Given the description of an element on the screen output the (x, y) to click on. 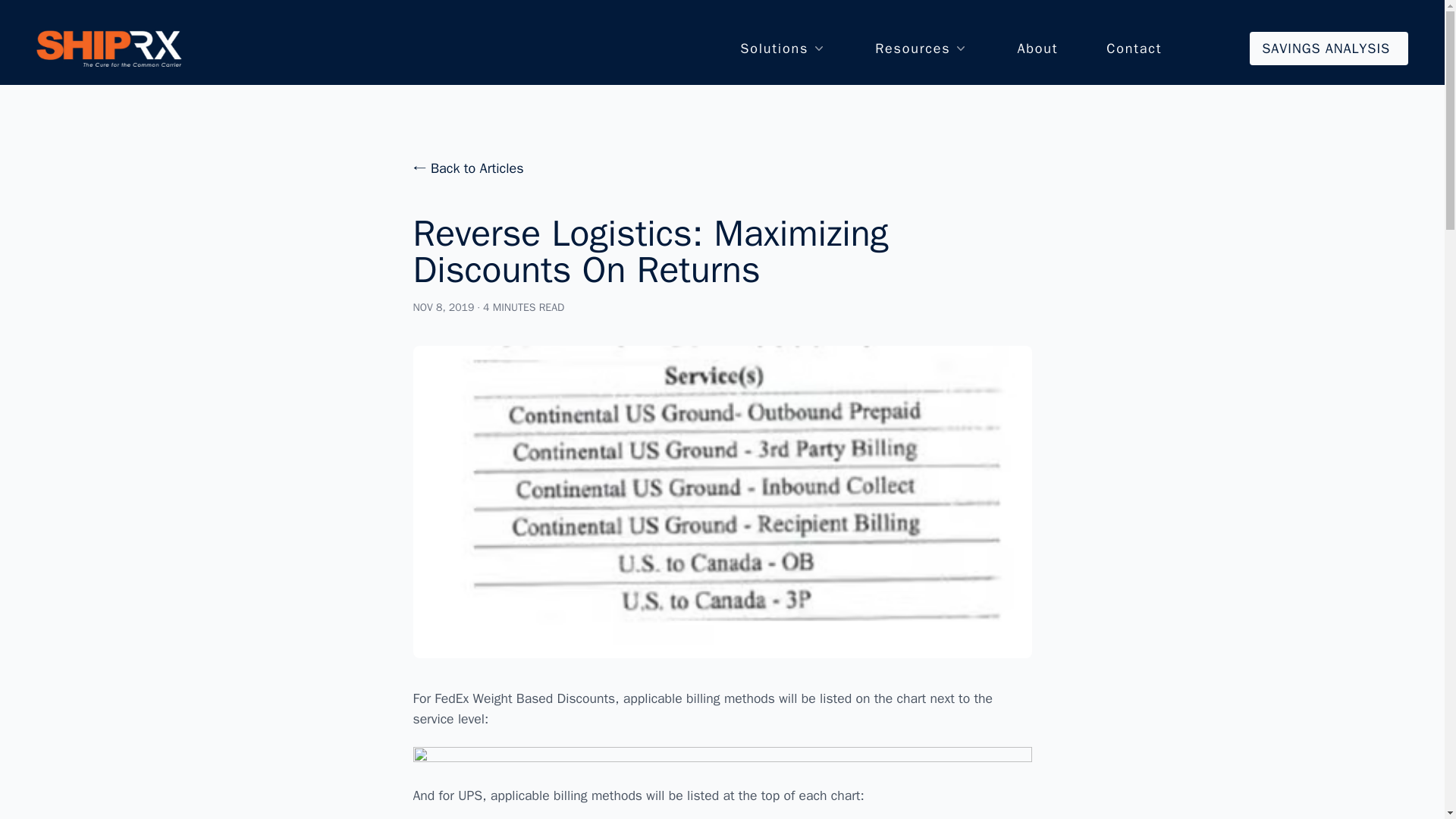
Contact (1133, 48)
About (1037, 48)
SAVINGS ANALYSIS (1328, 48)
Resources (921, 47)
Solutions (783, 47)
